Given the description of an element on the screen output the (x, y) to click on. 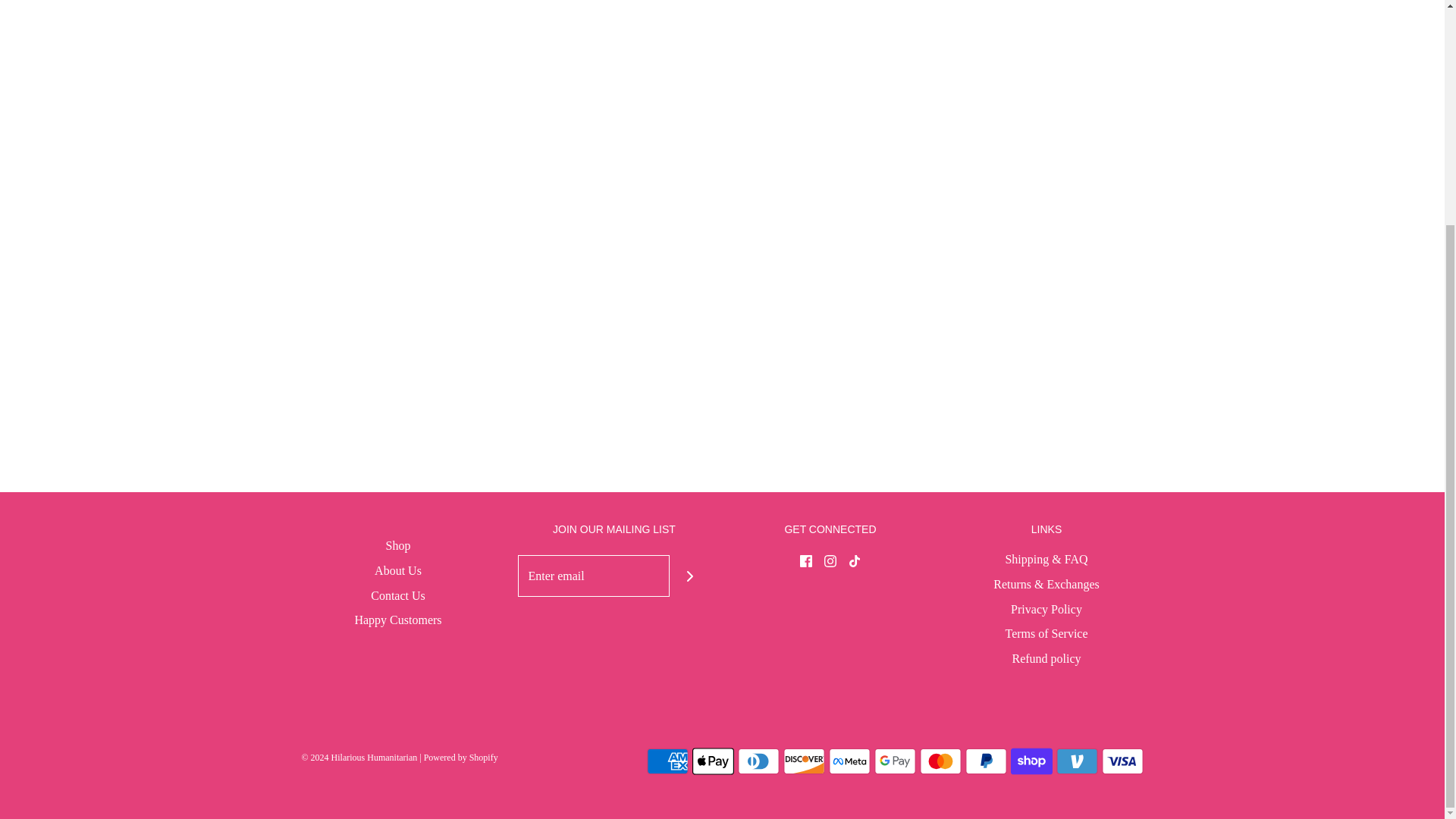
Meta Pay (848, 761)
Venmo (1076, 761)
Discover (803, 761)
PayPal (984, 761)
Visa (1121, 761)
American Express (666, 761)
Instagram icon (829, 561)
TikTok icon (854, 561)
Apple Pay (712, 761)
Shop Pay (1030, 761)
